Given the description of an element on the screen output the (x, y) to click on. 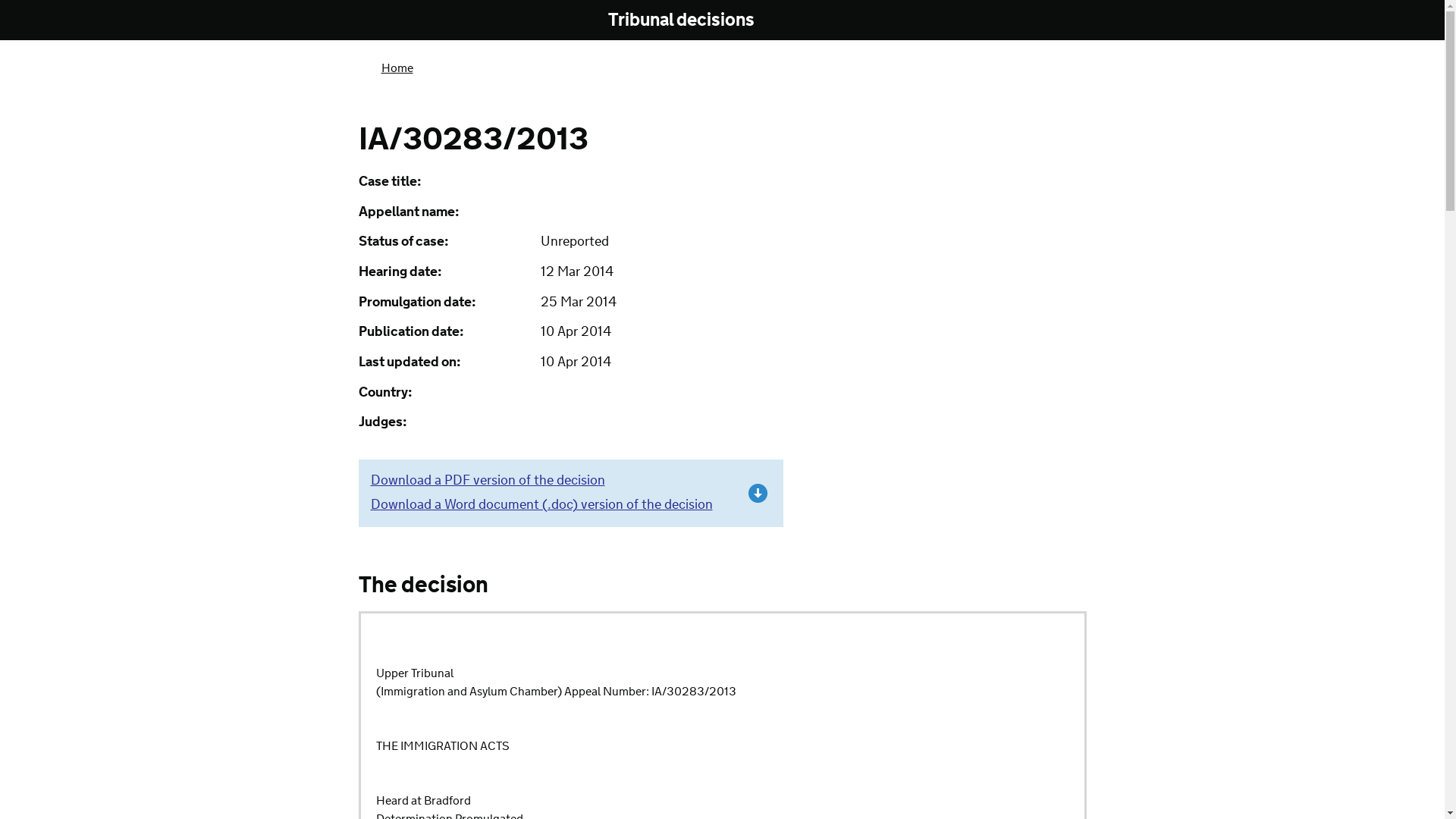
Download a PDF version of the decision (486, 480)
Home (396, 68)
Tribunal decisions (691, 20)
Go to the GOV.UK homepage (420, 20)
